Given the description of an element on the screen output the (x, y) to click on. 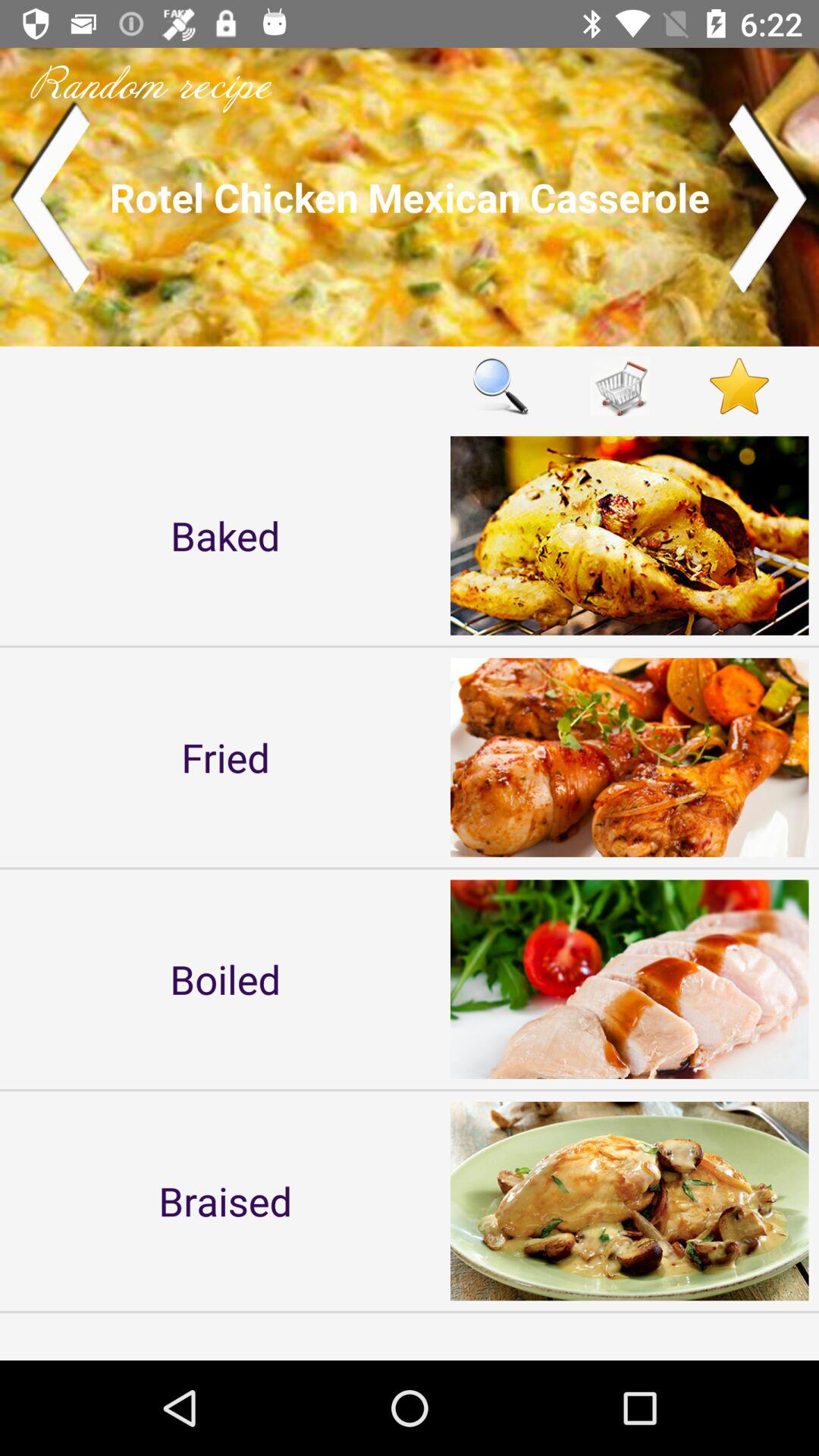
favorite (739, 385)
